Given the description of an element on the screen output the (x, y) to click on. 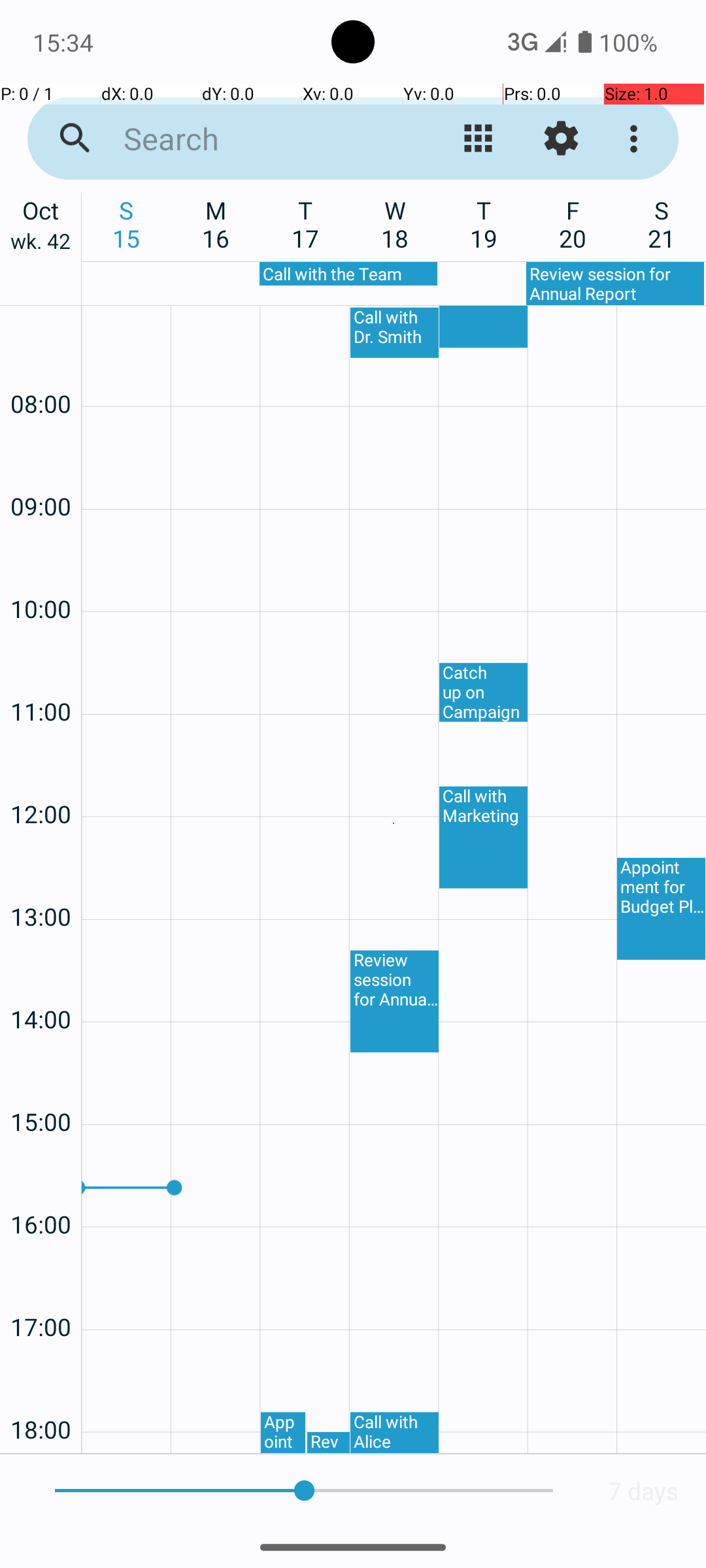
wk. 42 Element type: android.widget.TextView (40, 243)
7 days Element type: android.widget.TextView (642, 1490)
08:00 Element type: android.widget.TextView (40, 368)
10:00 Element type: android.widget.TextView (40, 573)
11:00 Element type: android.widget.TextView (40, 676)
12:00 Element type: android.widget.TextView (40, 778)
13:00 Element type: android.widget.TextView (40, 881)
14:00 Element type: android.widget.TextView (40, 983)
15:00 Element type: android.widget.TextView (40, 1086)
17:00 Element type: android.widget.TextView (40, 1291)
18:00 Element type: android.widget.TextView (40, 1394)
19:00 Element type: android.widget.TextView (40, 1449)
S
15 Element type: android.widget.TextView (126, 223)
M
16 Element type: android.widget.TextView (215, 223)
T
17 Element type: android.widget.TextView (305, 223)
W
18 Element type: android.widget.TextView (394, 223)
T
19 Element type: android.widget.TextView (483, 223)
F
20 Element type: android.widget.TextView (572, 223)
S
21 Element type: android.widget.TextView (661, 223)
Call with the Team Element type: android.widget.TextView (348, 273)
Review session for Annual Report Element type: android.widget.TextView (615, 283)
Appointment for Budget Planning Element type: android.widget.TextView (282, 1432)
Call with Alice Element type: android.widget.TextView (394, 1432)
Call with Dr. Smith Element type: android.widget.TextView (394, 332)
Call with Marketing Element type: android.widget.TextView (483, 837)
Workshop on Annual Report Element type: android.widget.TextView (483, 326)
Catch up on Campaign Element type: android.widget.TextView (483, 692)
